Given the description of an element on the screen output the (x, y) to click on. 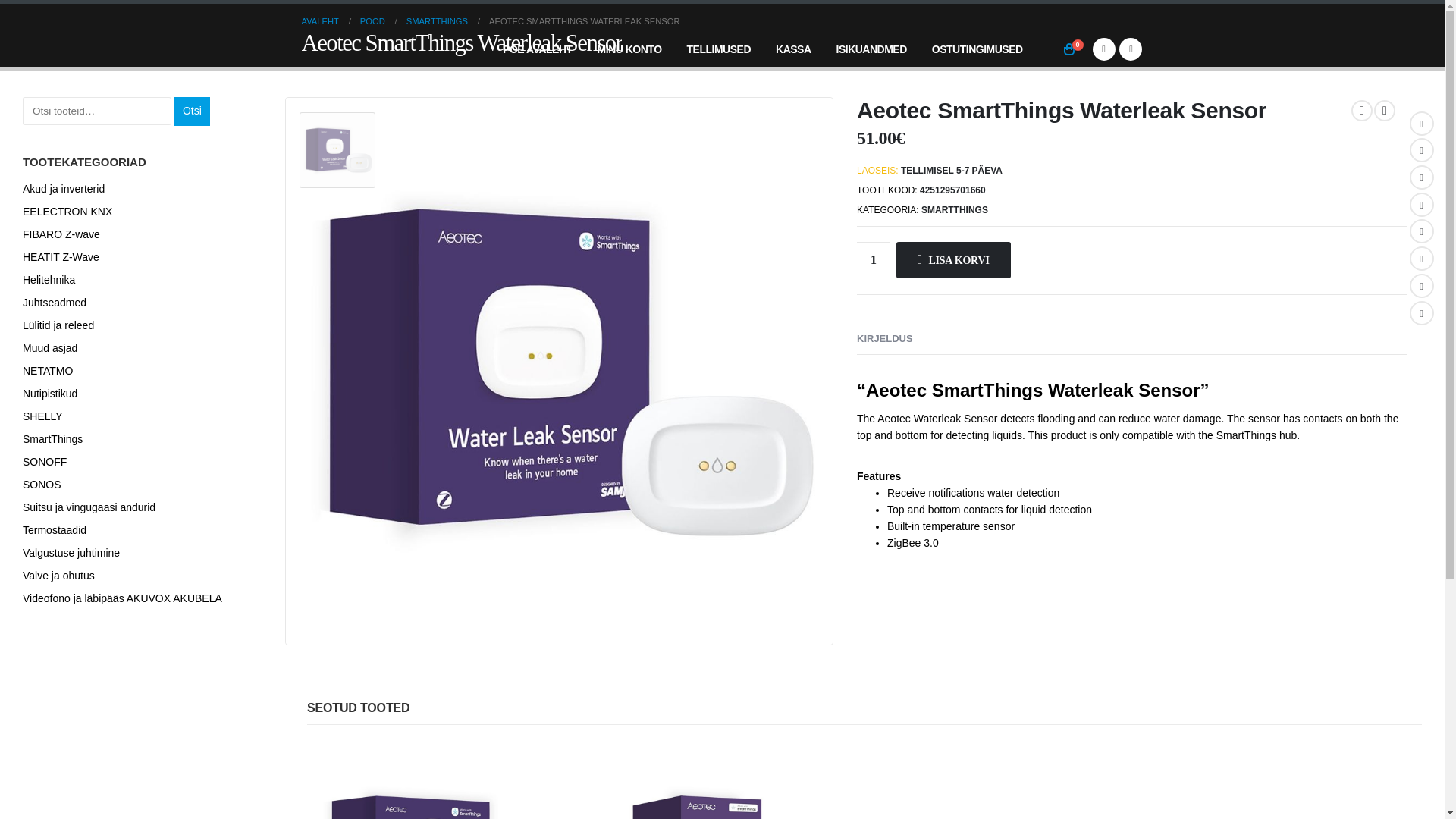
TELLIMUSED (718, 48)
LinkedIn (1421, 177)
LISA KORVI (953, 259)
VK (1421, 285)
SMARTTHINGS (954, 209)
ISIKUANDMED (871, 48)
Email (1421, 258)
Pinterest (1421, 231)
Twitter (1421, 150)
Kogus (873, 259)
